Given the description of an element on the screen output the (x, y) to click on. 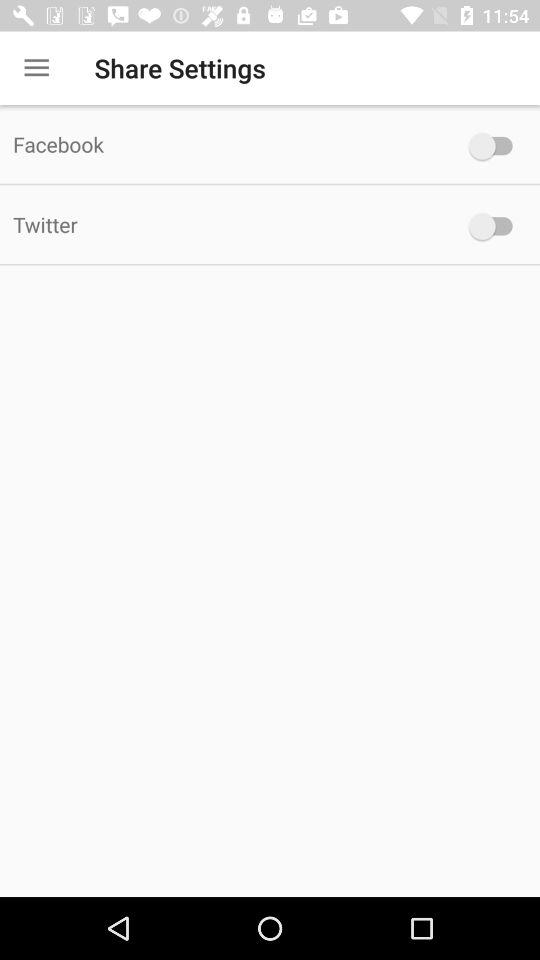
go to facebook (495, 146)
